Given the description of an element on the screen output the (x, y) to click on. 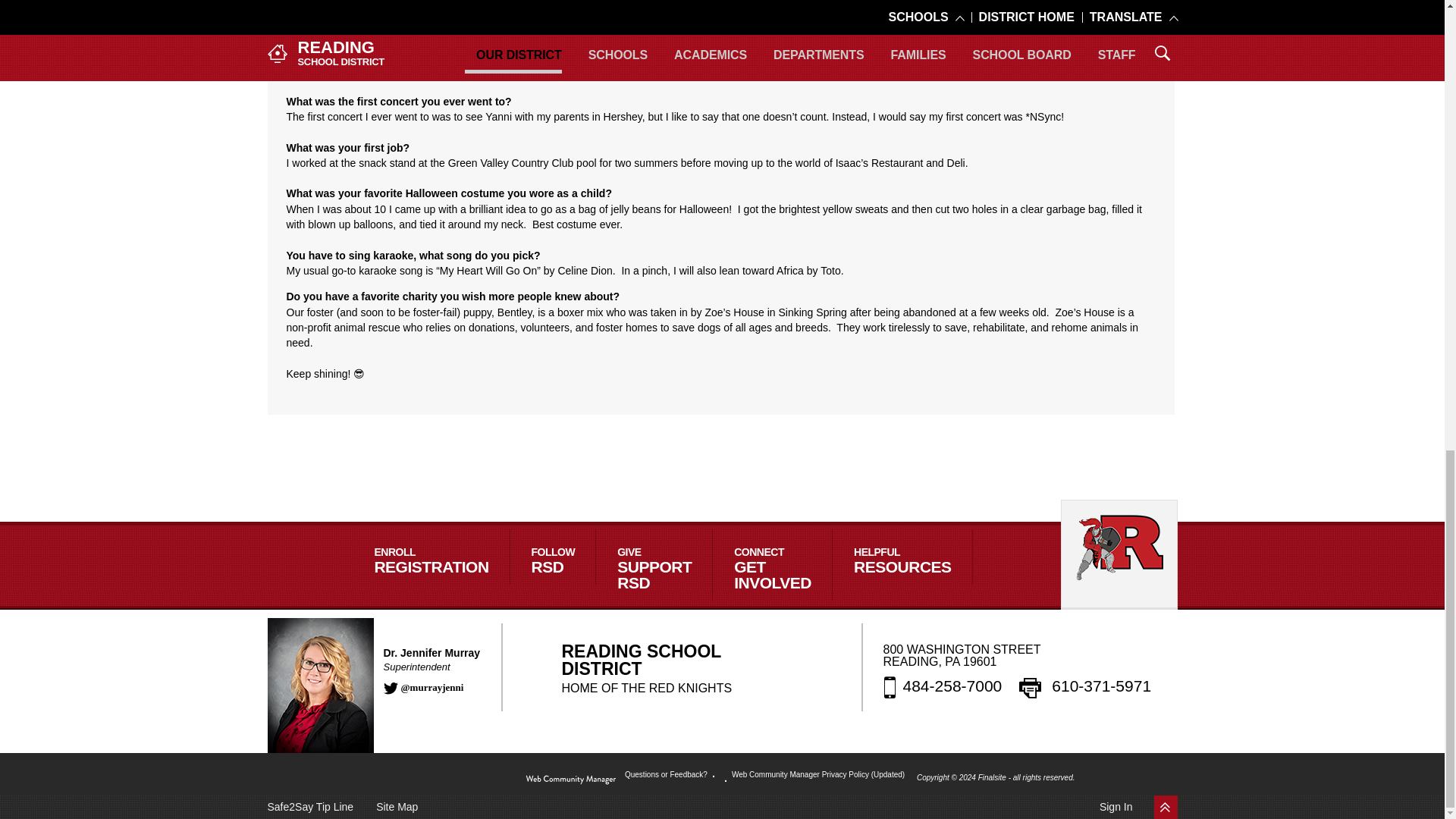
Finalsite - all rights reserved (570, 779)
Click to email the primary contact (667, 774)
